Given the description of an element on the screen output the (x, y) to click on. 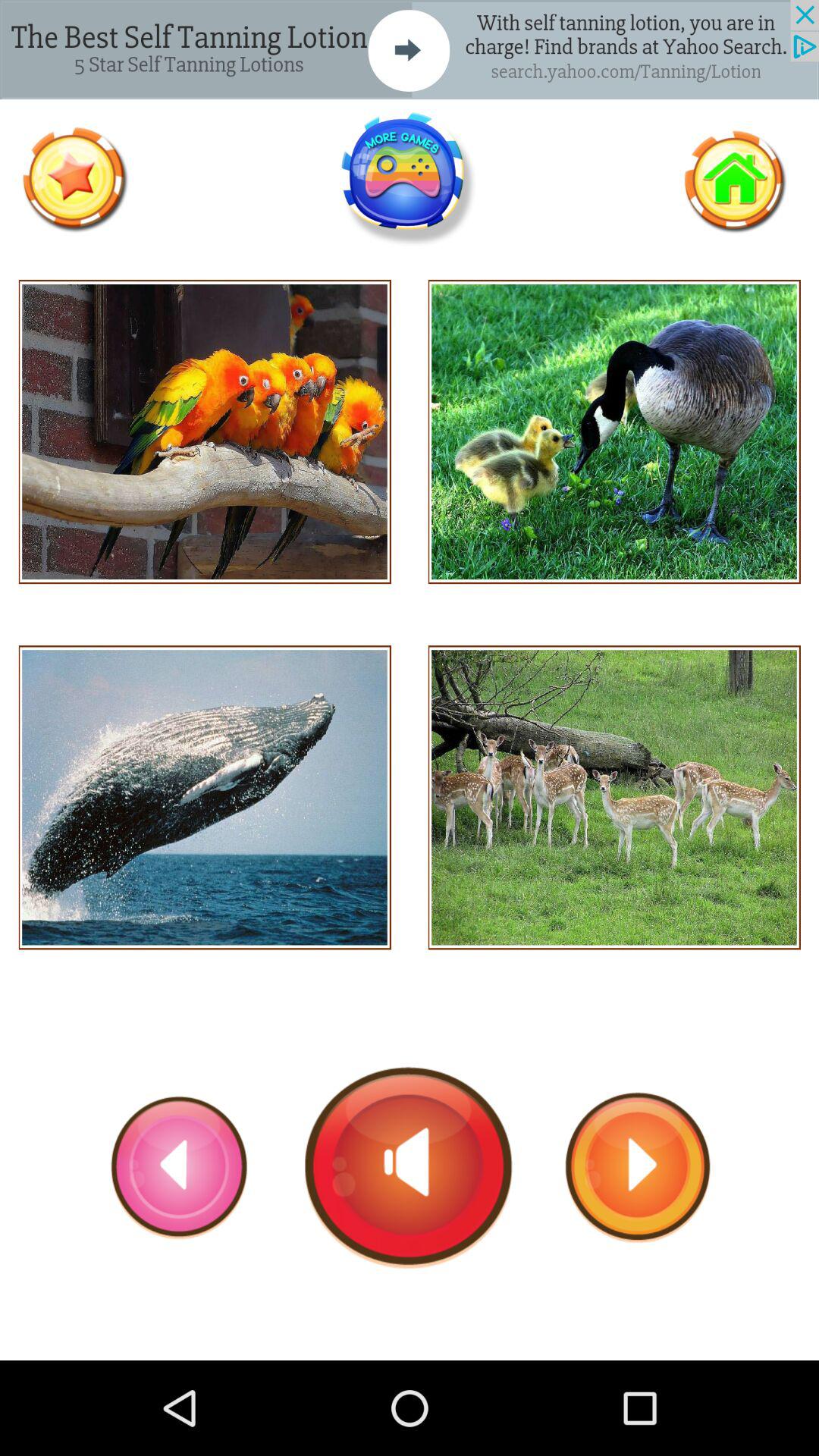
home (734, 179)
